Given the description of an element on the screen output the (x, y) to click on. 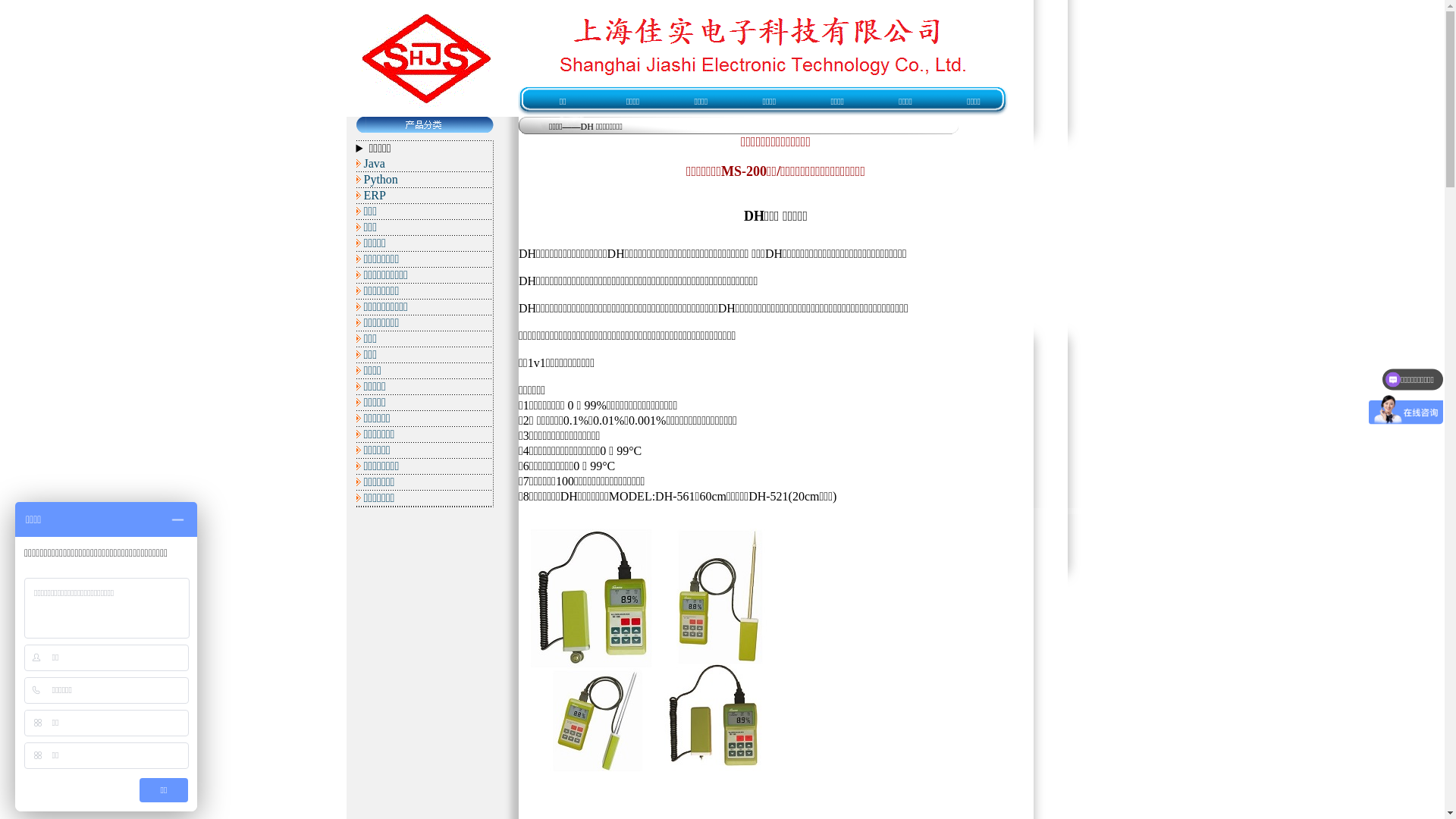
0 Element type: text (452, 266)
0 Element type: text (452, 478)
Java Element type: text (374, 162)
0 Element type: text (452, 312)
0 Element type: text (452, 221)
0 Element type: text (452, 418)
0 Element type: text (452, 448)
0 Element type: text (452, 296)
0 Element type: text (452, 236)
0 Element type: text (452, 281)
0 Element type: text (452, 403)
ERP Element type: text (374, 194)
0 Element type: text (452, 251)
0 Element type: text (452, 433)
0 Element type: text (452, 327)
0 Element type: text (452, 342)
0 Element type: text (452, 372)
0 Element type: text (452, 205)
0 Element type: text (452, 509)
0 Element type: text (452, 494)
0 Element type: text (452, 387)
Python Element type: text (381, 178)
0 Element type: text (452, 190)
0 Element type: text (452, 463)
0 Element type: text (452, 357)
